Given the description of an element on the screen output the (x, y) to click on. 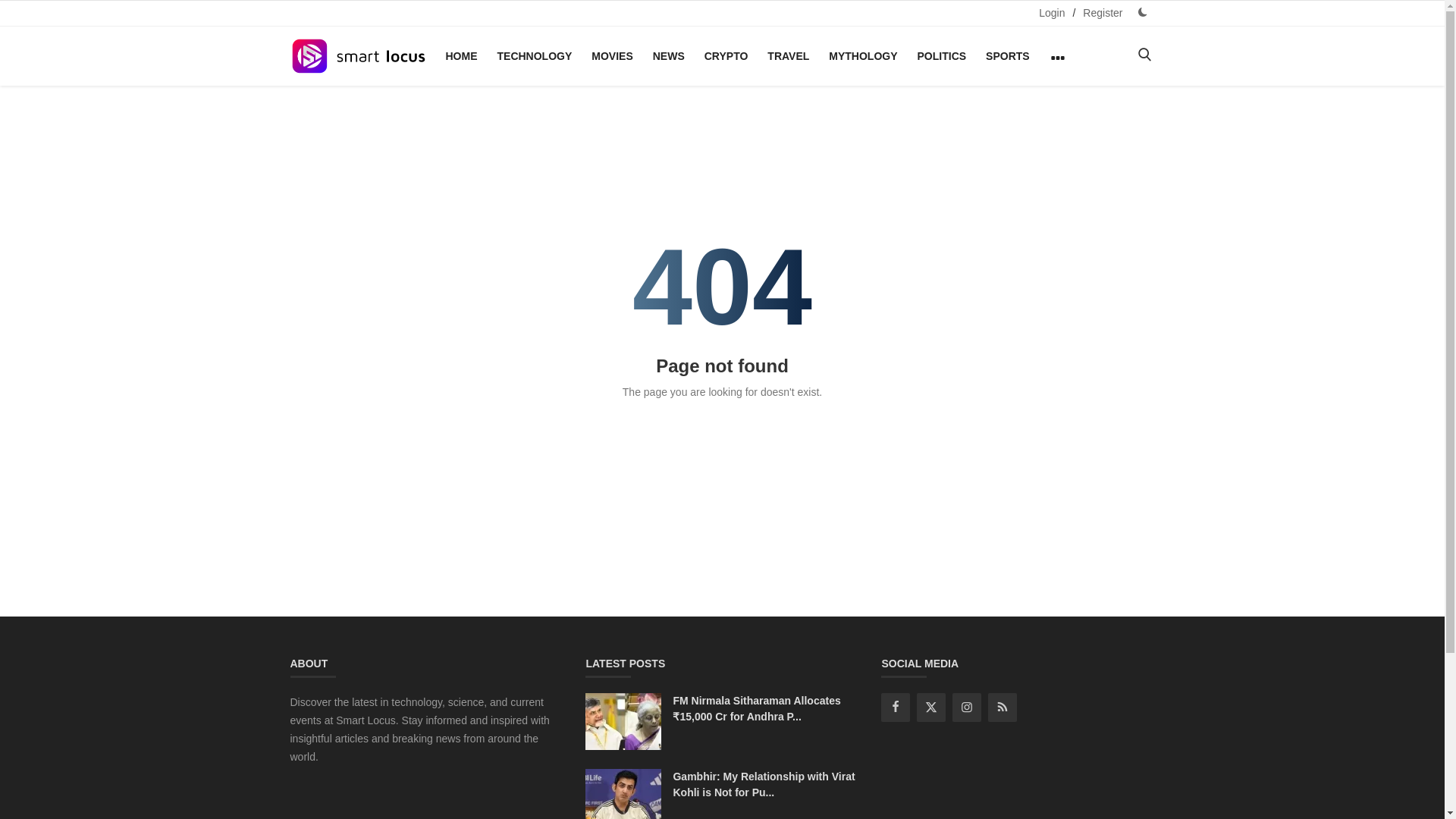
SPORTS (1007, 55)
TECHNOLOGY (534, 55)
CRYPTO (726, 55)
Login (1050, 13)
POLITICS (942, 55)
MOVIES (611, 55)
dark (1141, 12)
TRAVEL (788, 55)
MYTHOLOGY (862, 55)
Register (1102, 13)
